Given the description of an element on the screen output the (x, y) to click on. 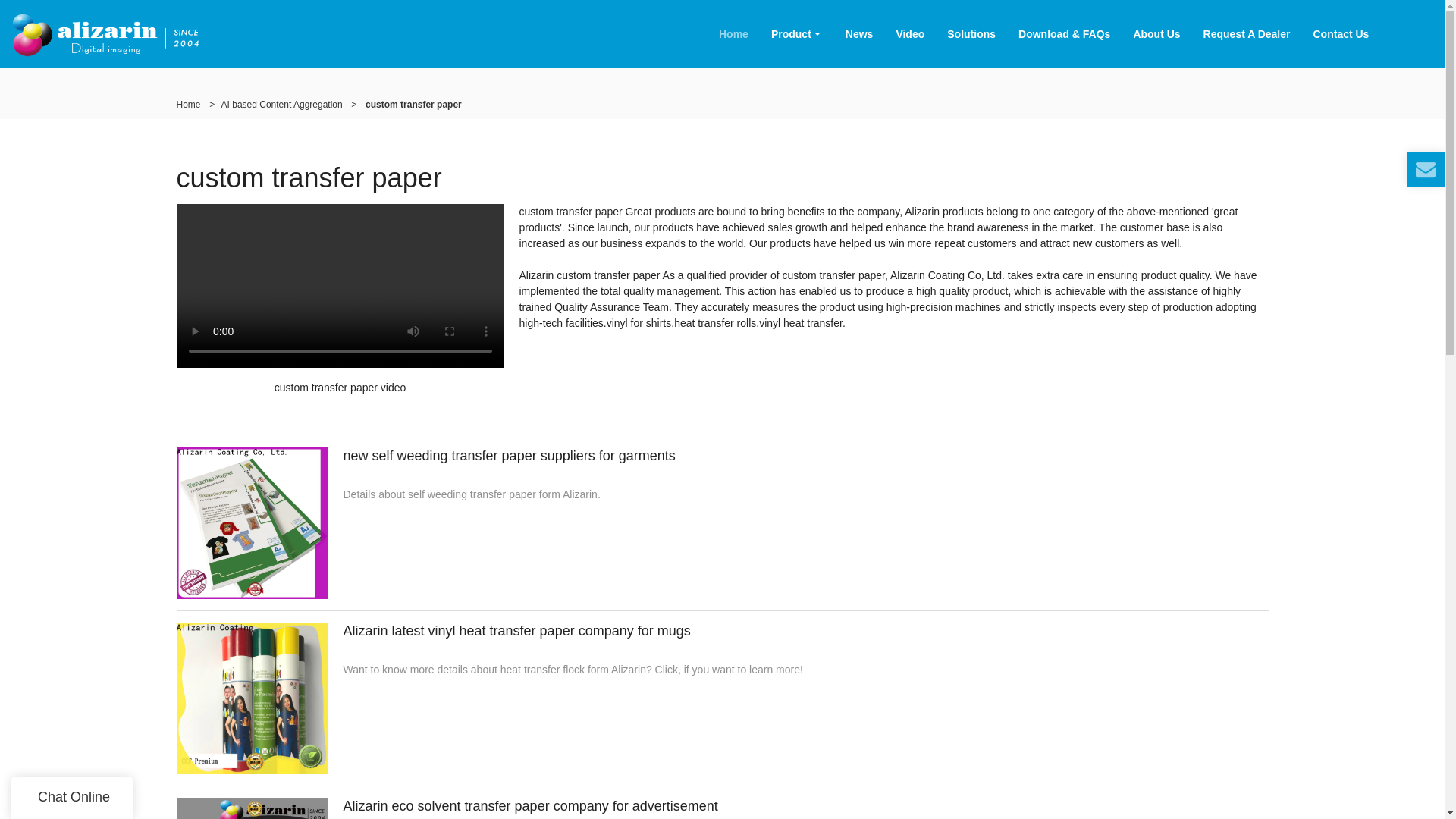
Solutions (971, 33)
Request A Dealer (1246, 33)
Contact Us (1340, 33)
Home (188, 104)
Home (733, 33)
News (859, 33)
Product (797, 33)
About Us (1156, 33)
Video (909, 33)
AI based Content Aggregation (281, 104)
